Given the description of an element on the screen output the (x, y) to click on. 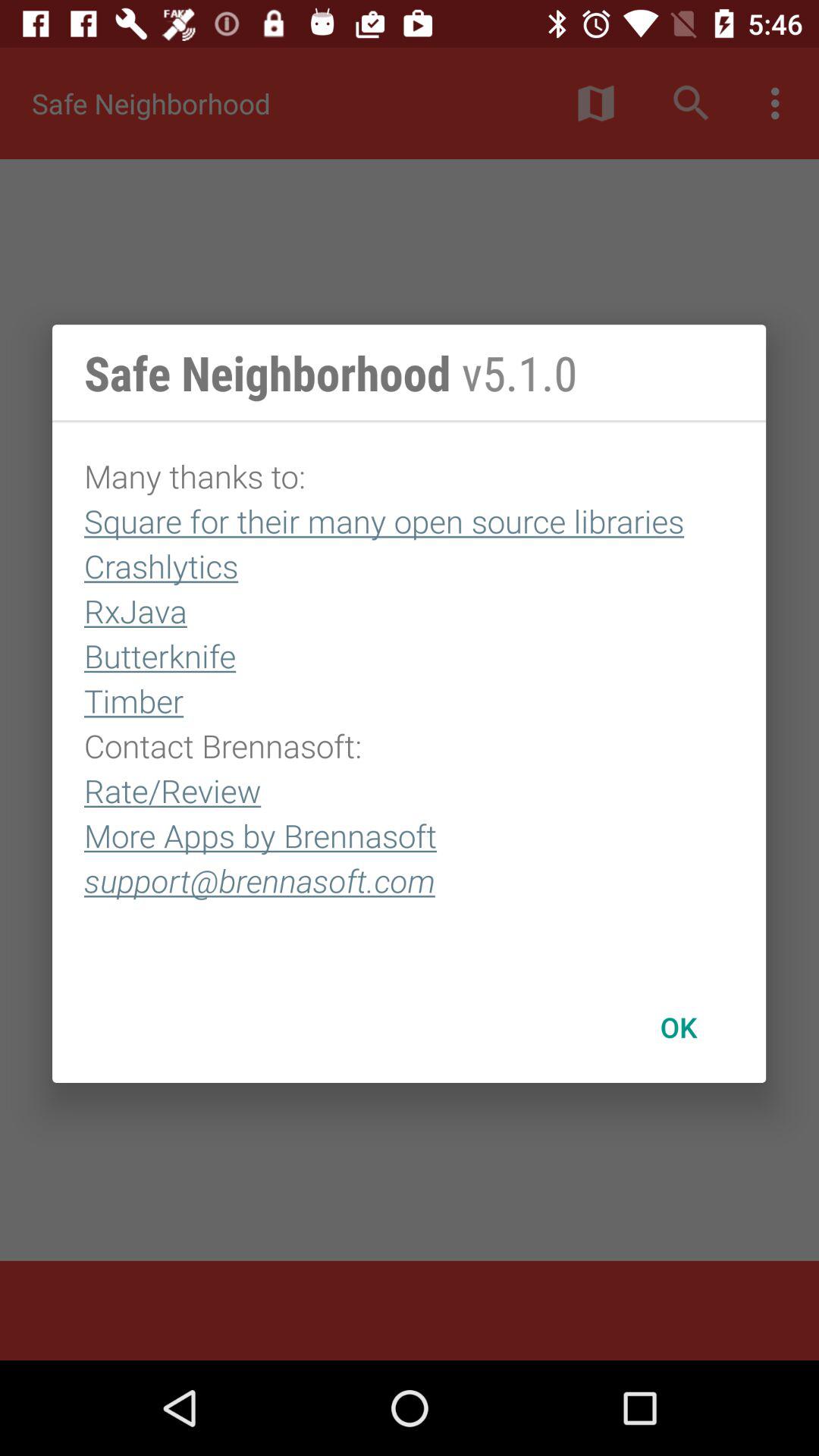
scroll to ok item (678, 1026)
